Given the description of an element on the screen output the (x, y) to click on. 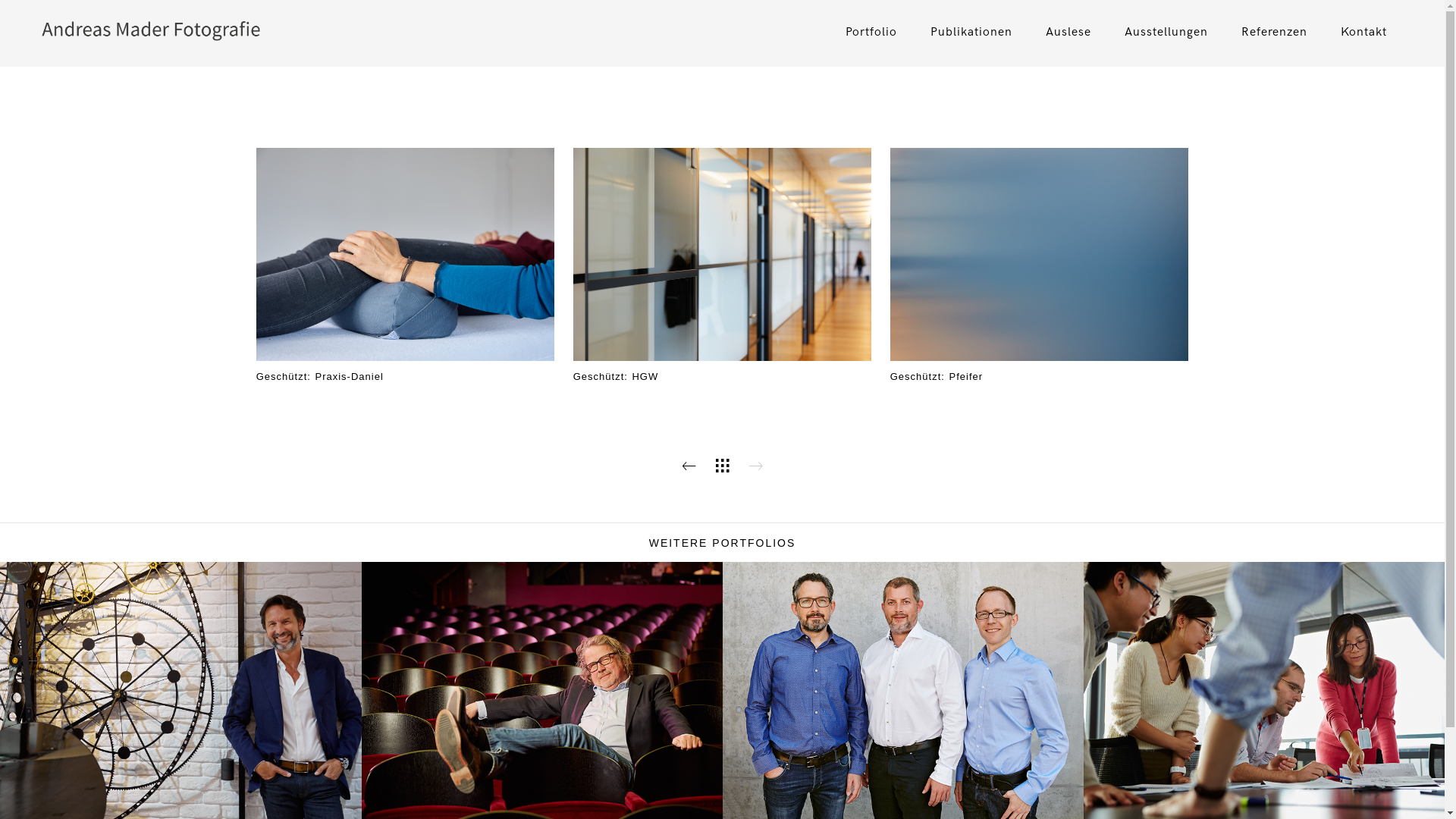
Portfolio Element type: text (871, 32)
Referenzen Element type: text (1274, 32)
Auslese Element type: text (1068, 32)
Publikationen Element type: text (971, 32)
Ausstellungen Element type: text (1166, 32)
Kontakt Element type: text (1363, 32)
